Given the description of an element on the screen output the (x, y) to click on. 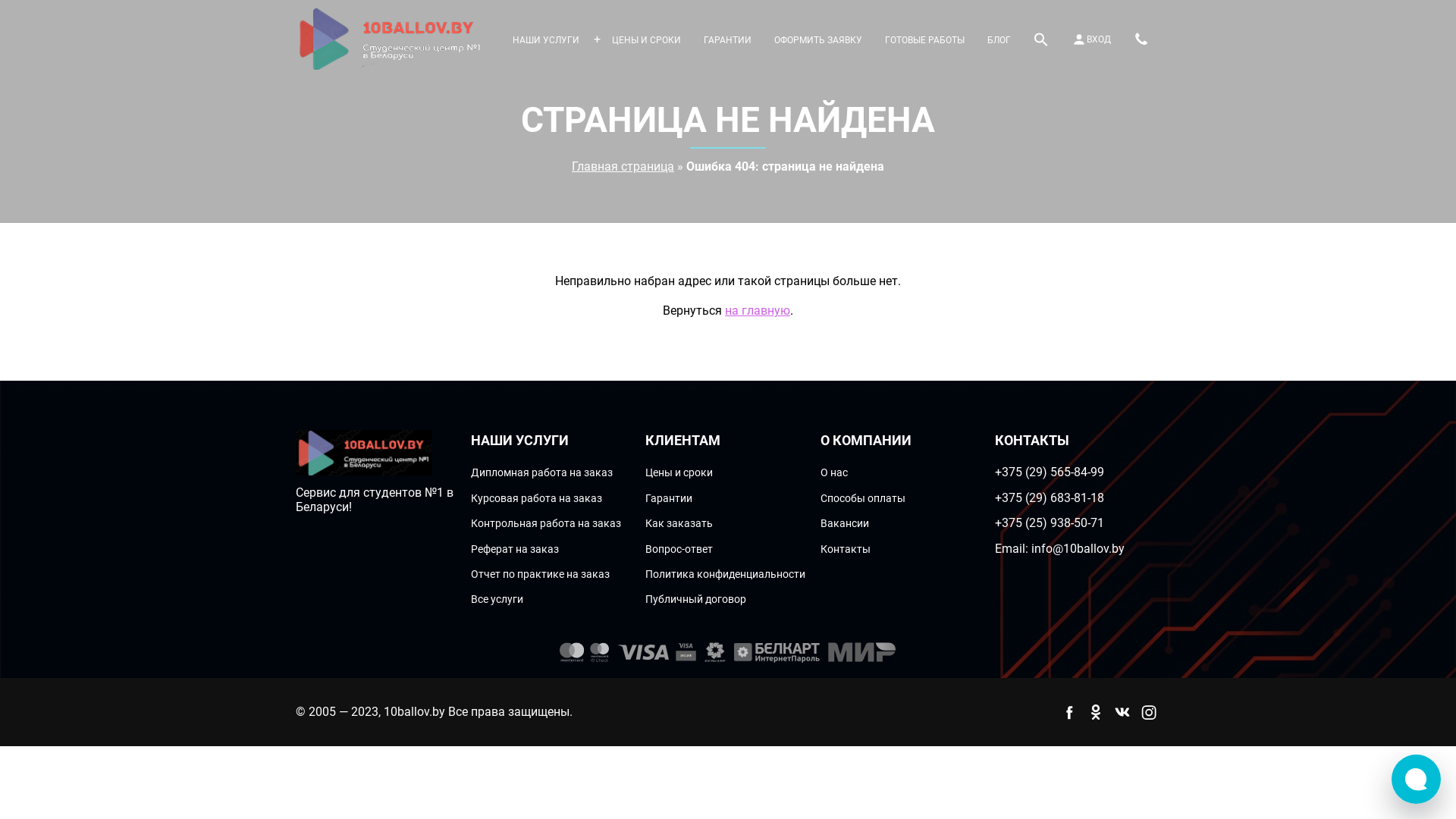
+375 (25) 938-50-71 Element type: text (1049, 522)
+375 (29) 683-81-18 Element type: text (1049, 497)
+375 (29) 565-84-99 Element type: text (1049, 471)
Email: info@10ballov.by Element type: text (1059, 548)
